Given the description of an element on the screen output the (x, y) to click on. 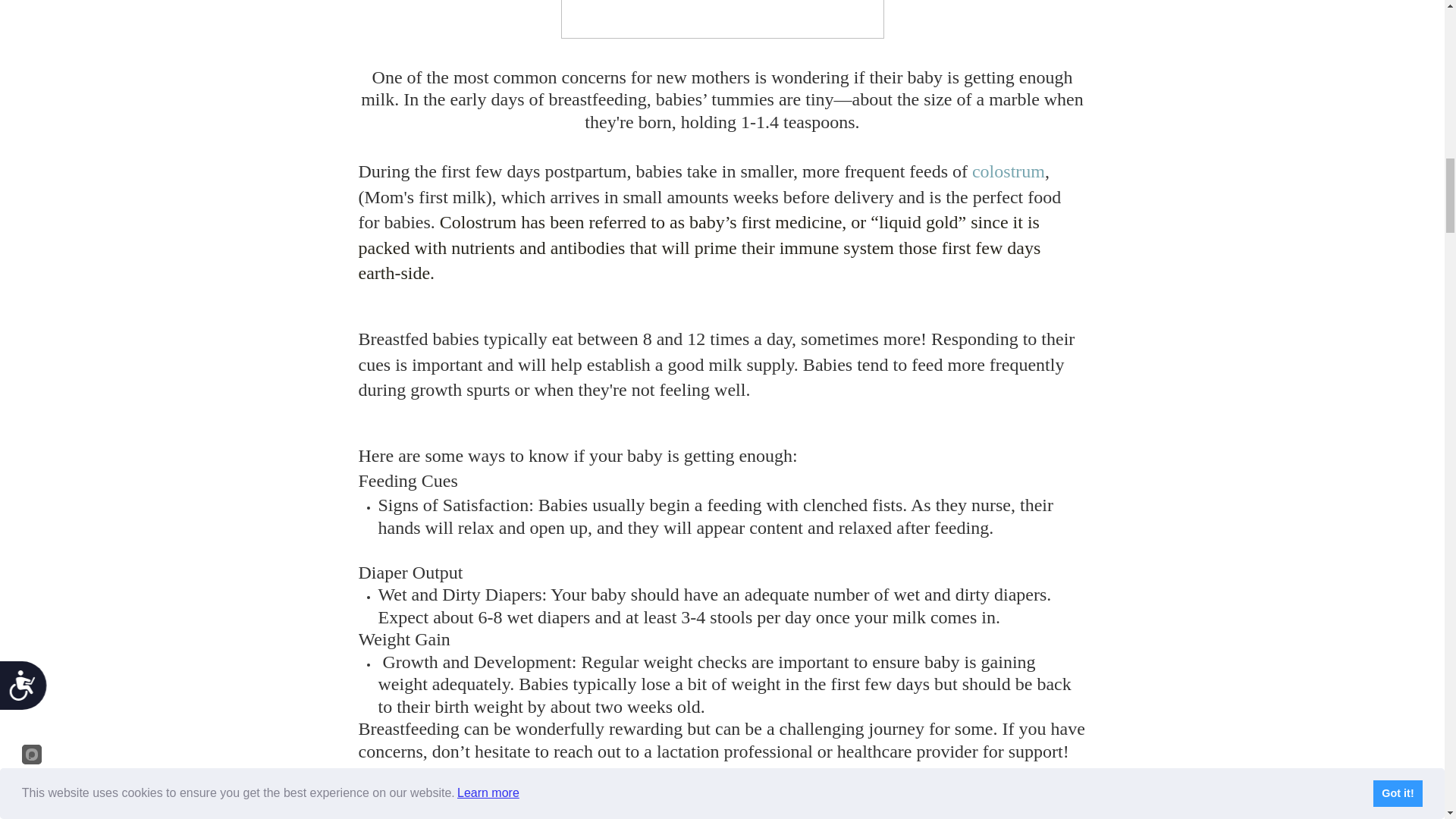
colostrum (1008, 170)
